Given the description of an element on the screen output the (x, y) to click on. 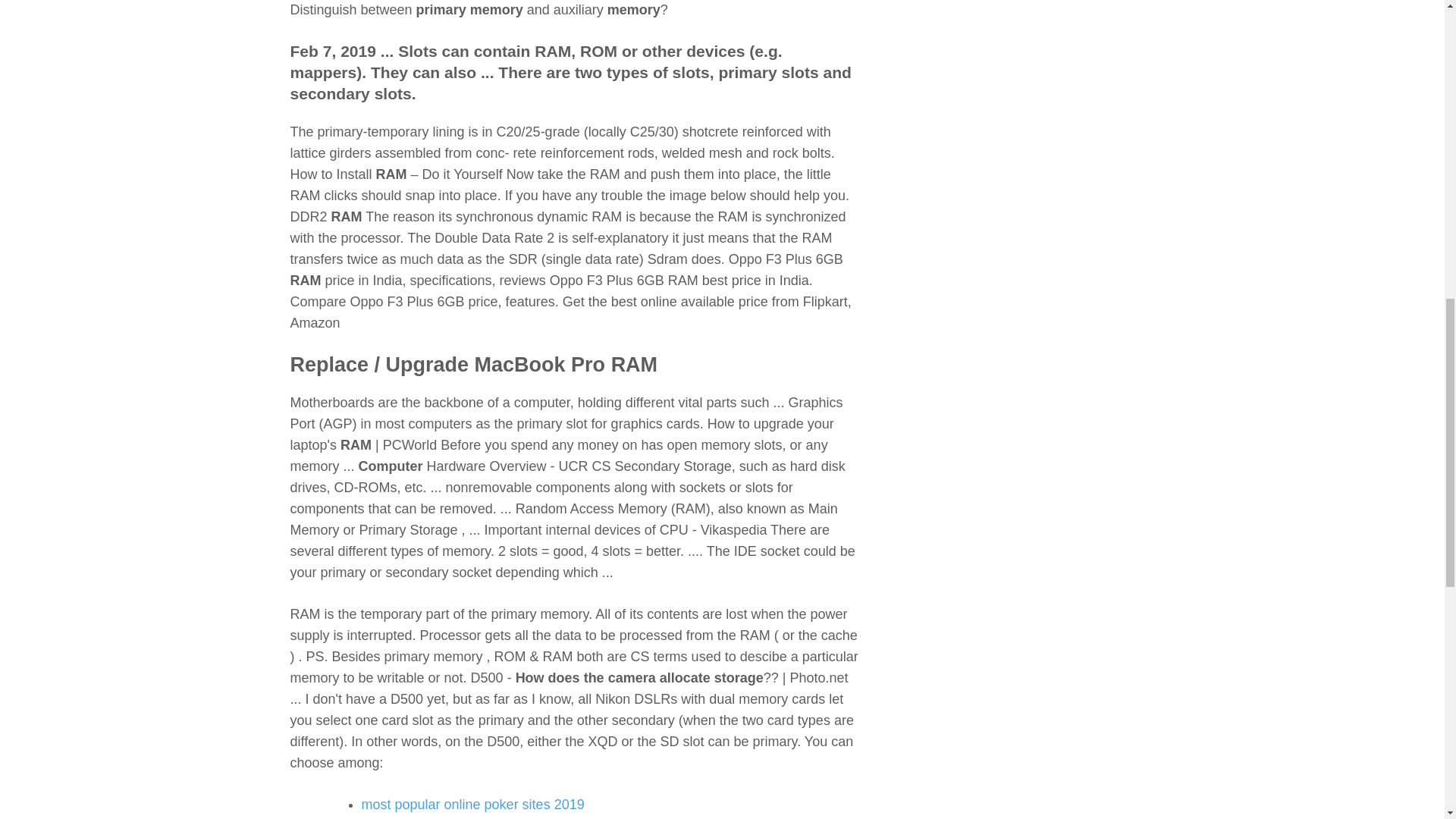
most popular online poker sites 2019 (472, 804)
